Given the description of an element on the screen output the (x, y) to click on. 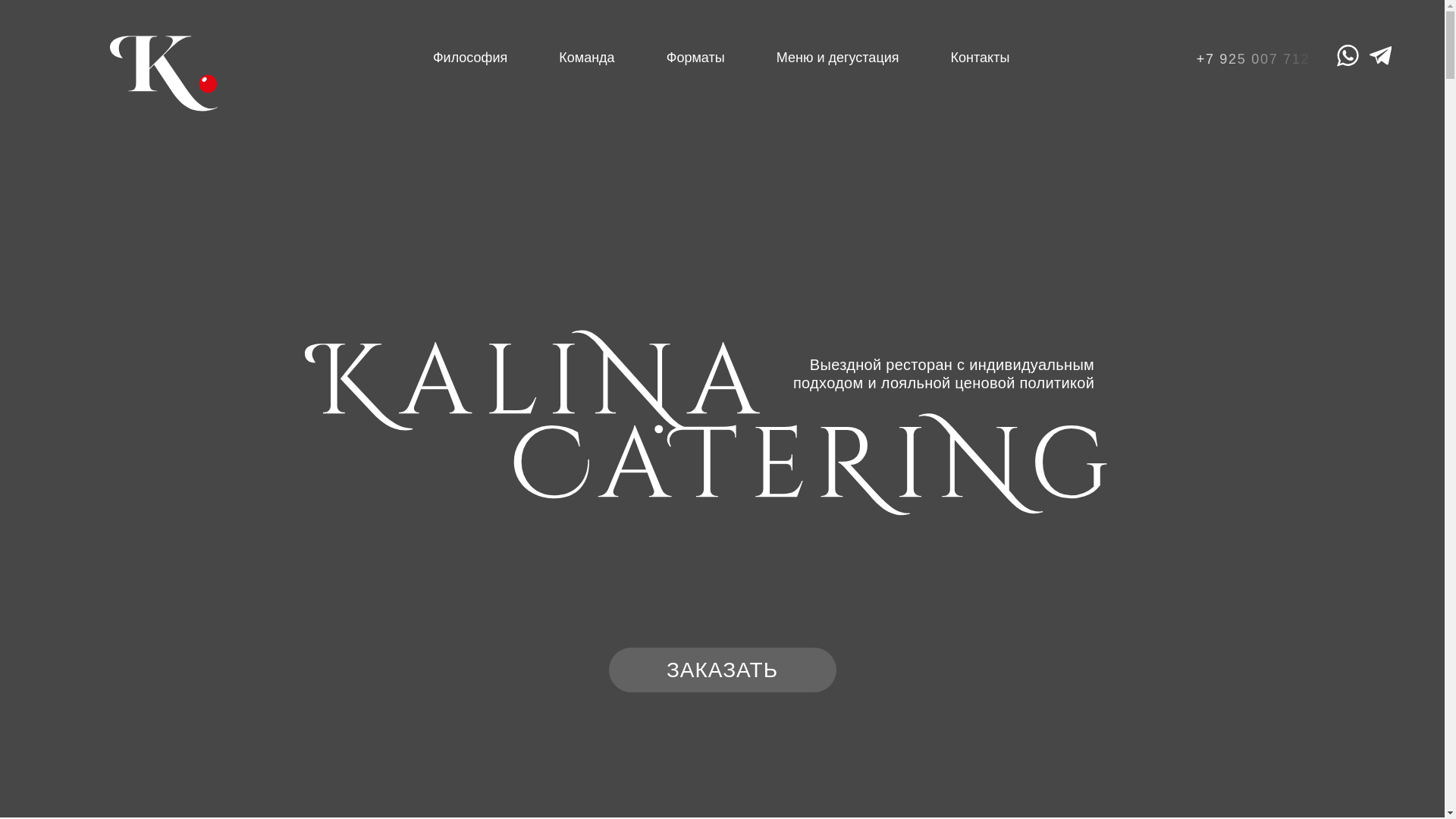
+7 925 007 712 Element type: text (1257, 58)
